Given the description of an element on the screen output the (x, y) to click on. 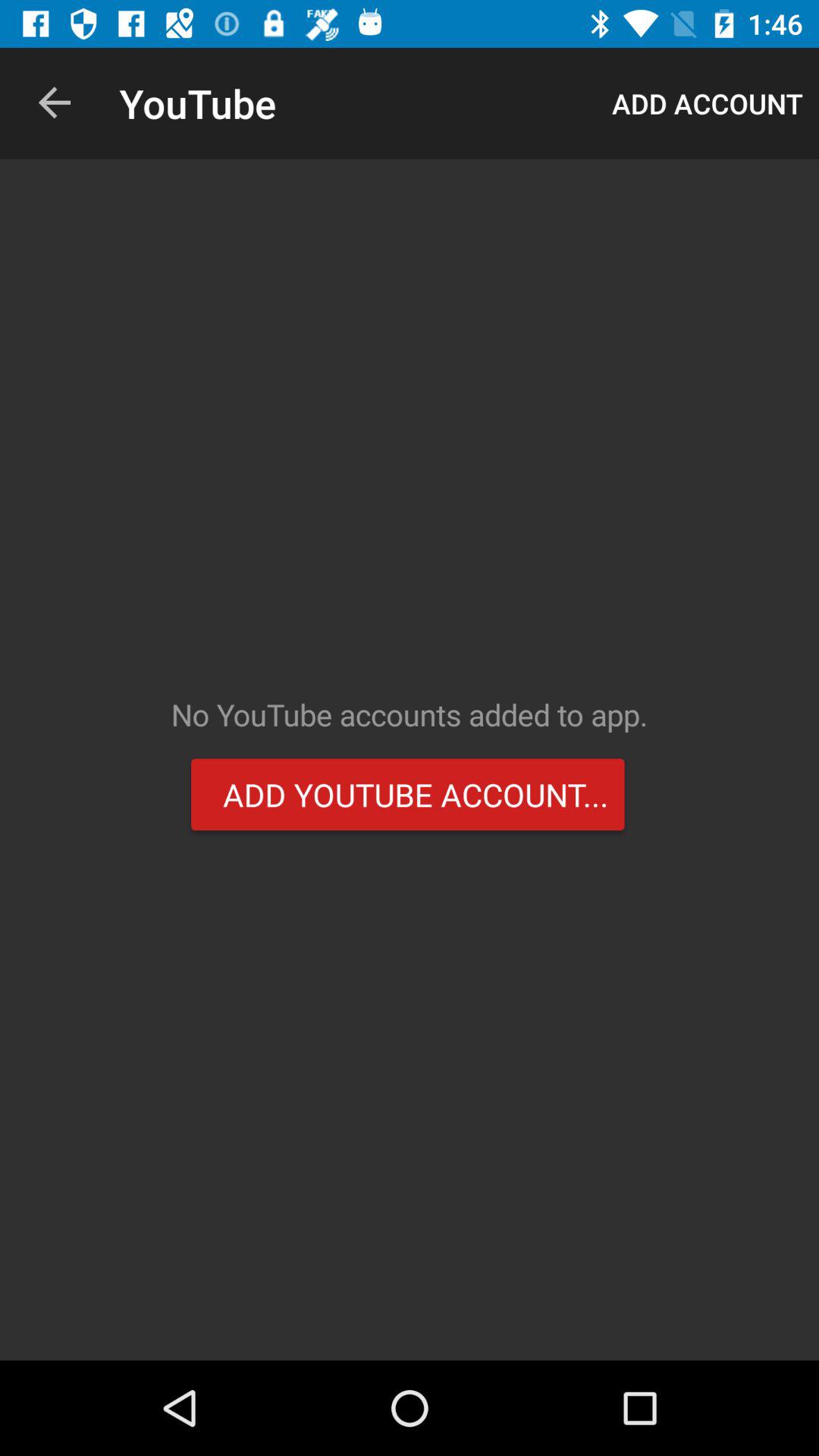
press item to the left of youtube (55, 103)
